Given the description of an element on the screen output the (x, y) to click on. 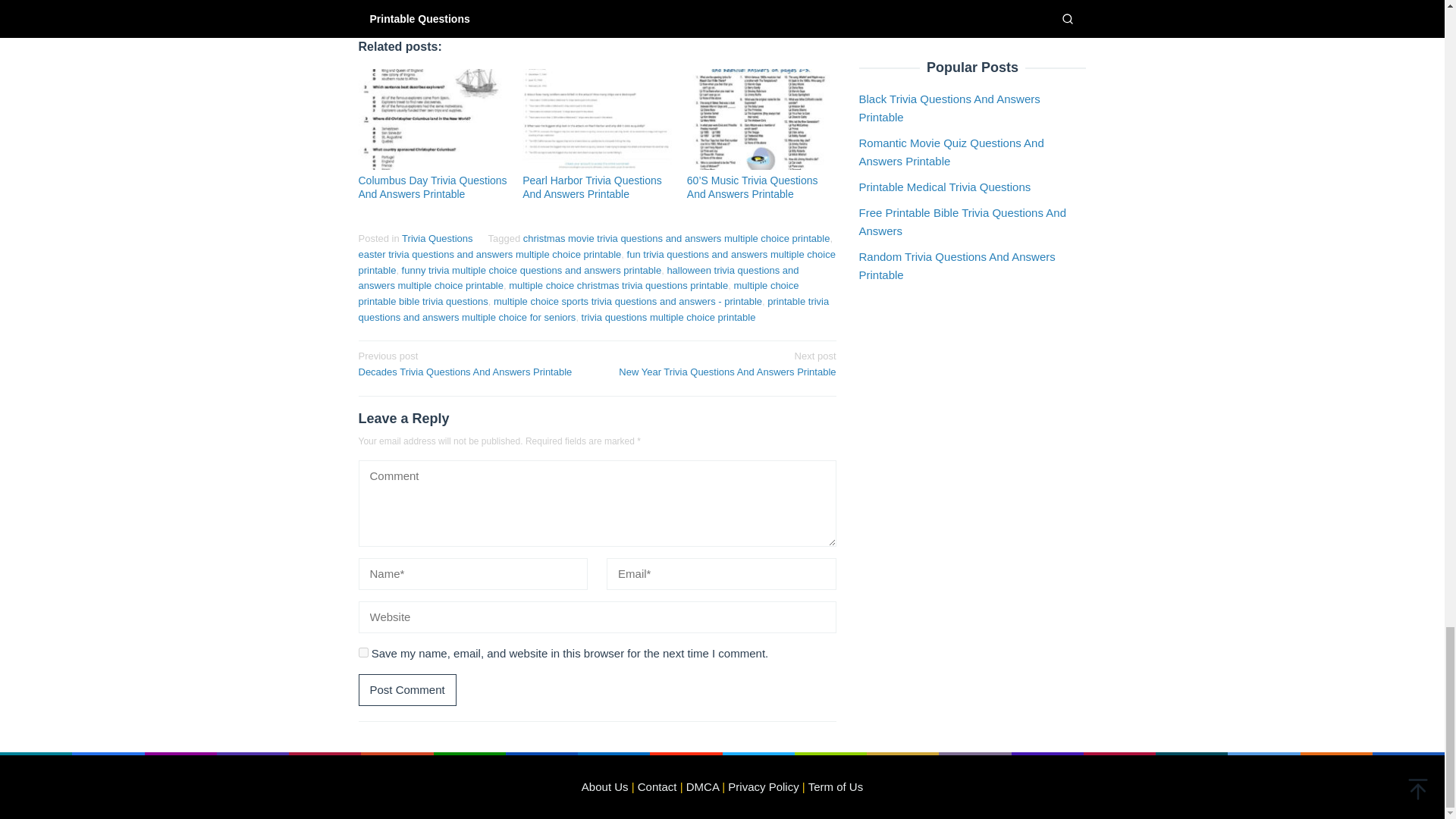
fun trivia questions and answers multiple choice printable (596, 262)
Pearl Harbor Trivia Questions And Answers Printable (472, 362)
trivia questions multiple choice printable (592, 186)
Columbus Day Trivia Questions And Answers Printable (667, 317)
multiple choice printable bible trivia questions (432, 186)
yes (577, 293)
Trivia Questions (721, 362)
